Given the description of an element on the screen output the (x, y) to click on. 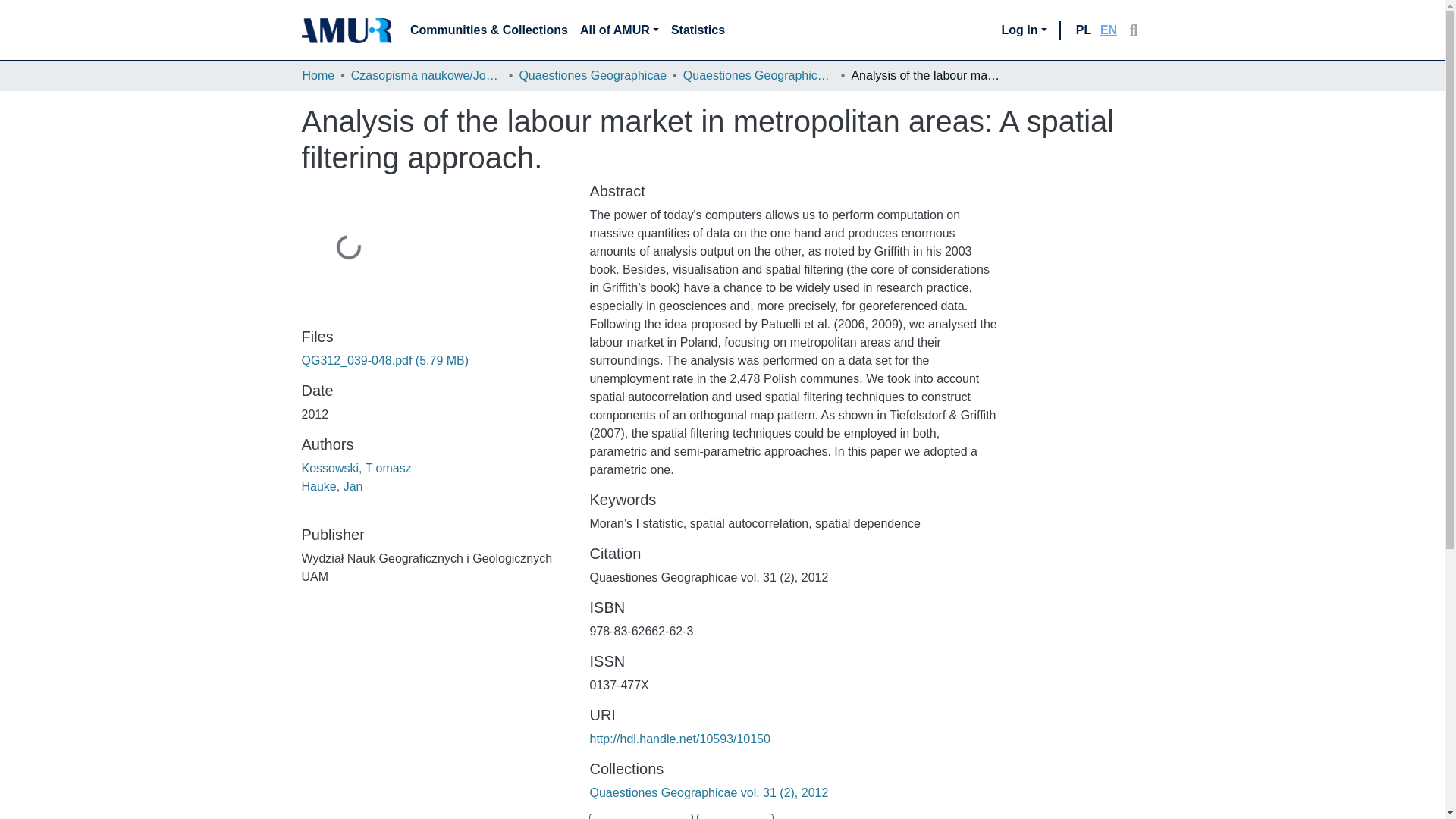
All of AMUR (619, 30)
PL (1083, 30)
Search (1133, 30)
Statistics (735, 816)
Hauke, Jan (331, 486)
Home (317, 75)
Quaestiones Geographicae (592, 75)
Full item page (641, 816)
EN (1108, 30)
Statistics (697, 30)
